Given the description of an element on the screen output the (x, y) to click on. 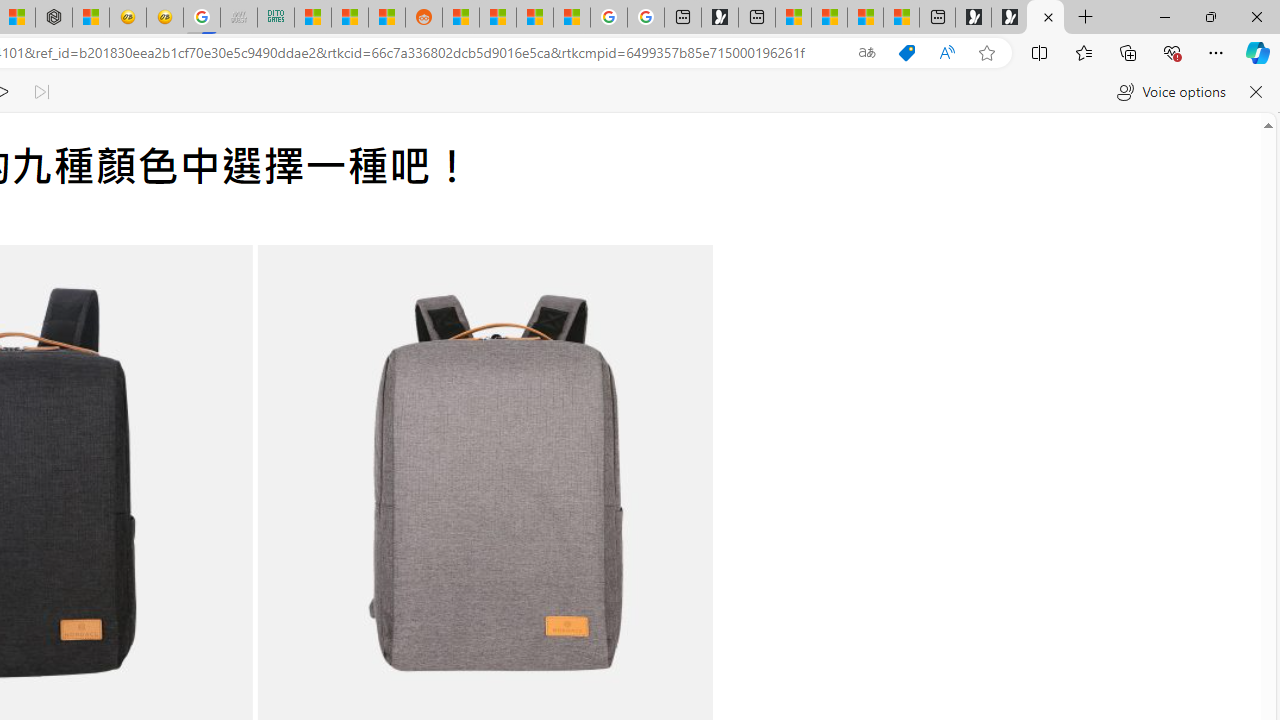
This site has coupons! Shopping in Microsoft Edge (906, 53)
R******* | Trusted Community Engagement and Contributions (460, 17)
Play Free Online Games | Games from Microsoft Start (1009, 17)
Next (658, 501)
